Given the description of an element on the screen output the (x, y) to click on. 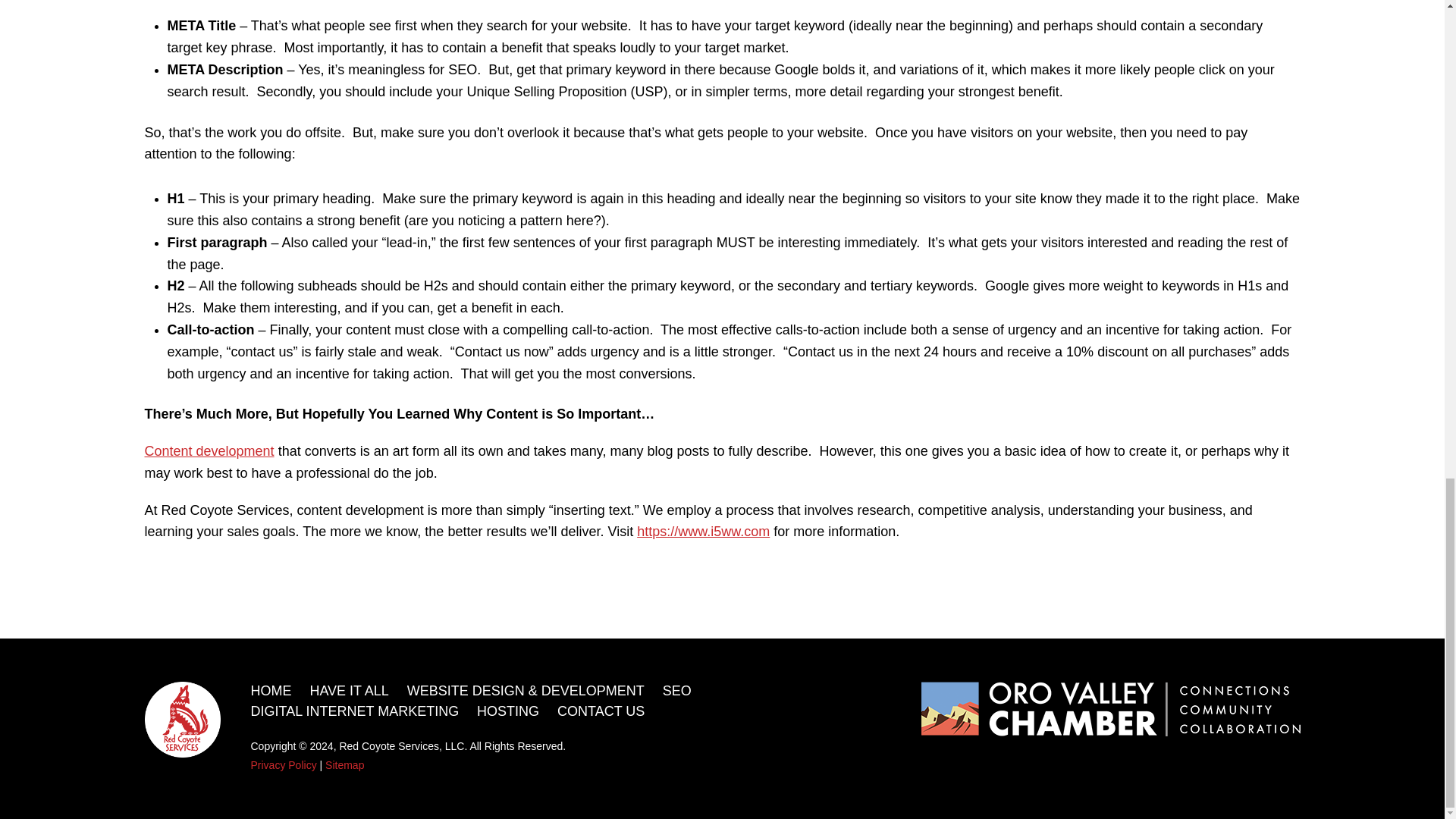
CONTACT US (601, 711)
HOSTING (507, 711)
Privacy Policy (282, 765)
HAVE IT ALL (348, 690)
Sitemap (344, 765)
SEO (676, 690)
HOME (270, 690)
DIGITAL INTERNET MARKETING (354, 711)
Content development (208, 450)
